Given the description of an element on the screen output the (x, y) to click on. 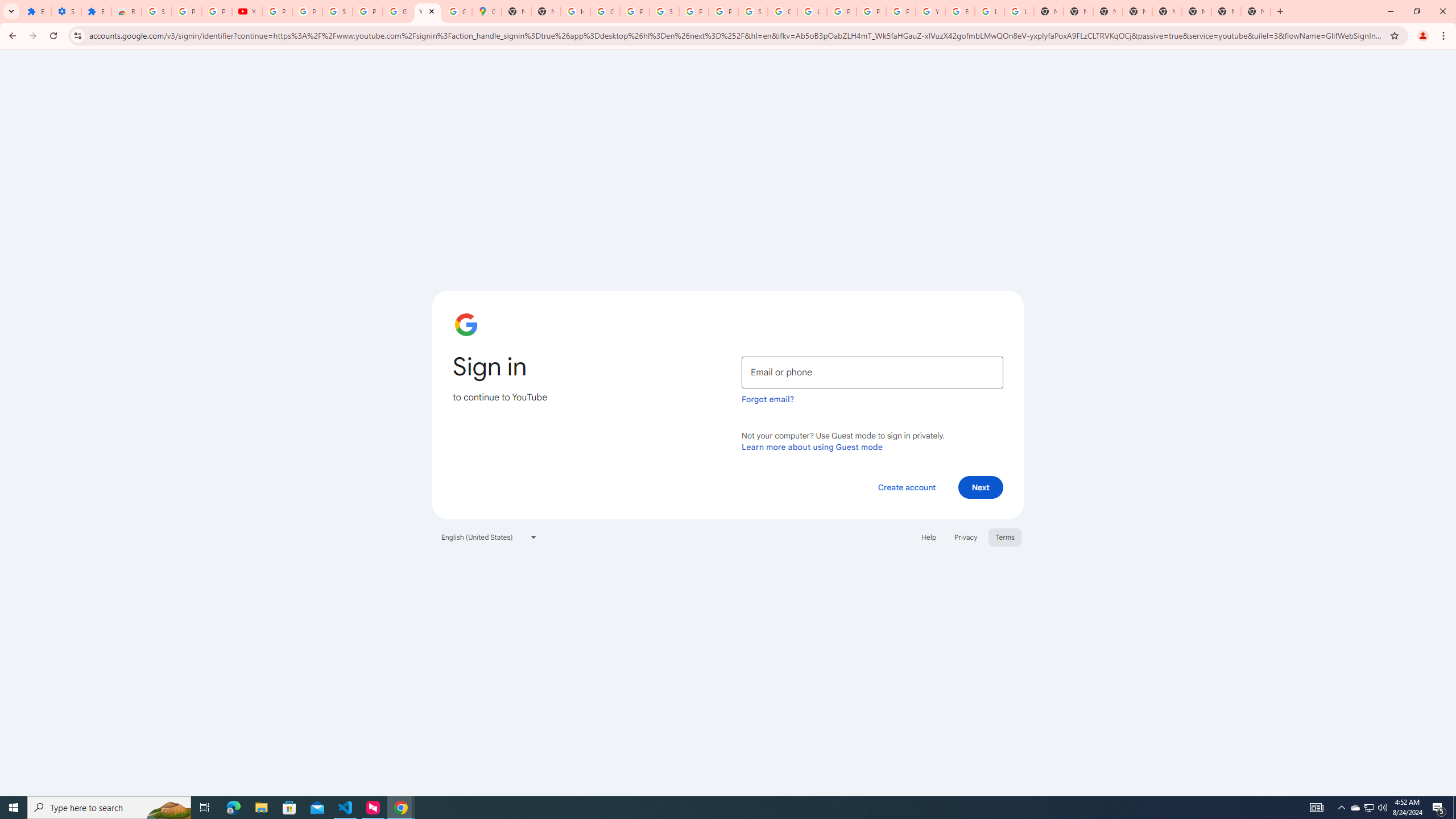
Extensions (36, 11)
YouTube (247, 11)
New Tab (1107, 11)
Privacy Help Center - Policies Help (871, 11)
Email or phone (872, 372)
New Tab (1255, 11)
